Given the description of an element on the screen output the (x, y) to click on. 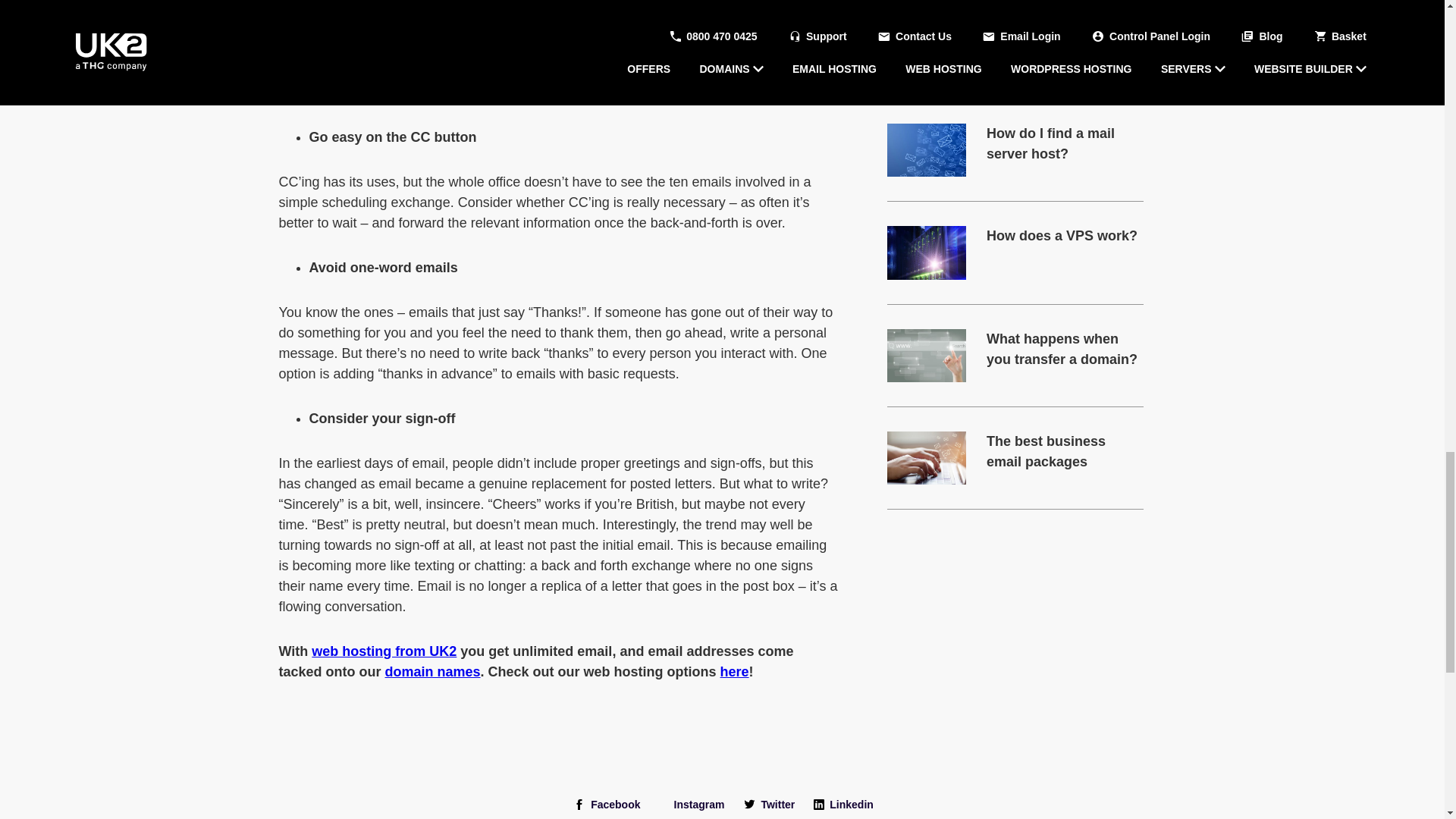
How does a VPS work? (1064, 236)
How do I find a mail server host? (926, 149)
How do I find a mail server host? (1064, 143)
How does a VPS work? (926, 252)
Best UK start-up and entrepreneur blogs (1064, 41)
Best UK start-up and entrepreneur blogs (926, 47)
What happens when you transfer a domain? (926, 355)
